Given the description of an element on the screen output the (x, y) to click on. 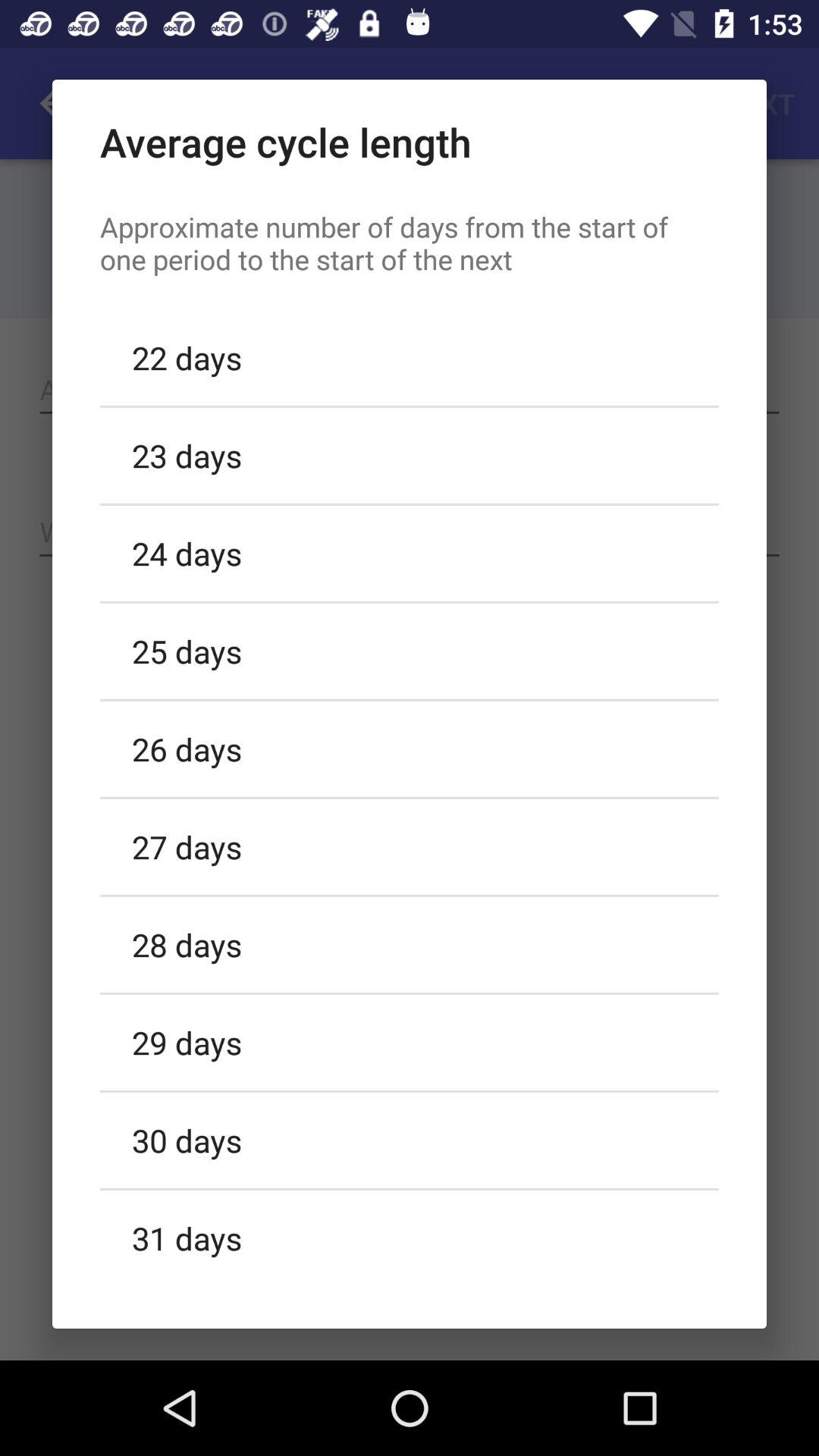
turn on the 31 days (409, 1235)
